Given the description of an element on the screen output the (x, y) to click on. 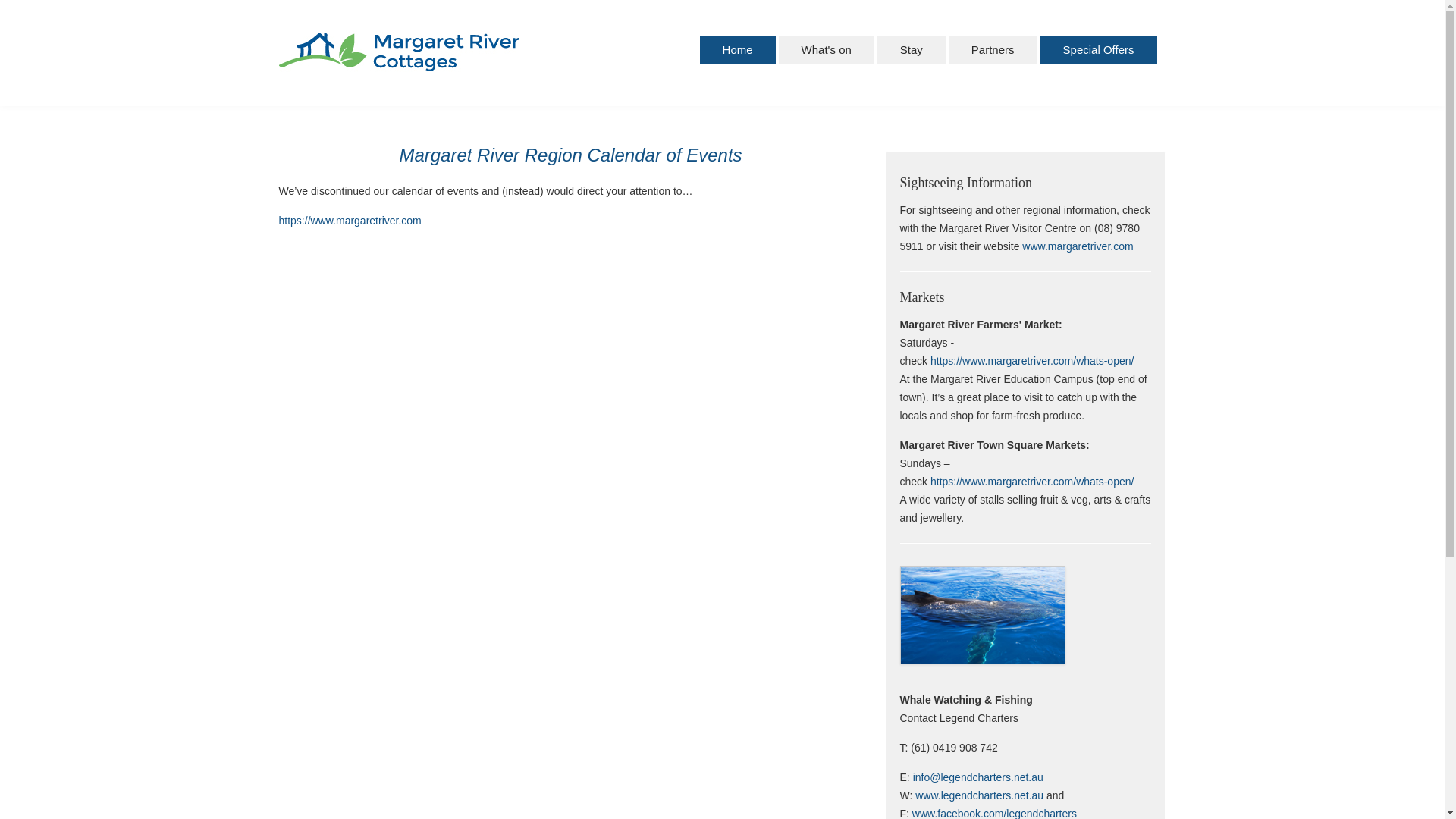
https://www.margaretriver.com Element type: text (350, 220)
Special Offers Element type: text (1098, 49)
Partners Element type: text (992, 49)
https://www.margaretriver.com/whats-open/ Element type: text (1031, 481)
www.legendcharters.net.au Element type: text (980, 795)
Home Element type: text (737, 49)
info@legendcharters.net.au Element type: text (978, 777)
What's on Element type: text (826, 49)
https://www.margaretriver.com/whats-open/ Element type: text (1031, 360)
www.margaretriver.com Element type: text (1077, 246)
Stay Element type: text (911, 49)
